Given the description of an element on the screen output the (x, y) to click on. 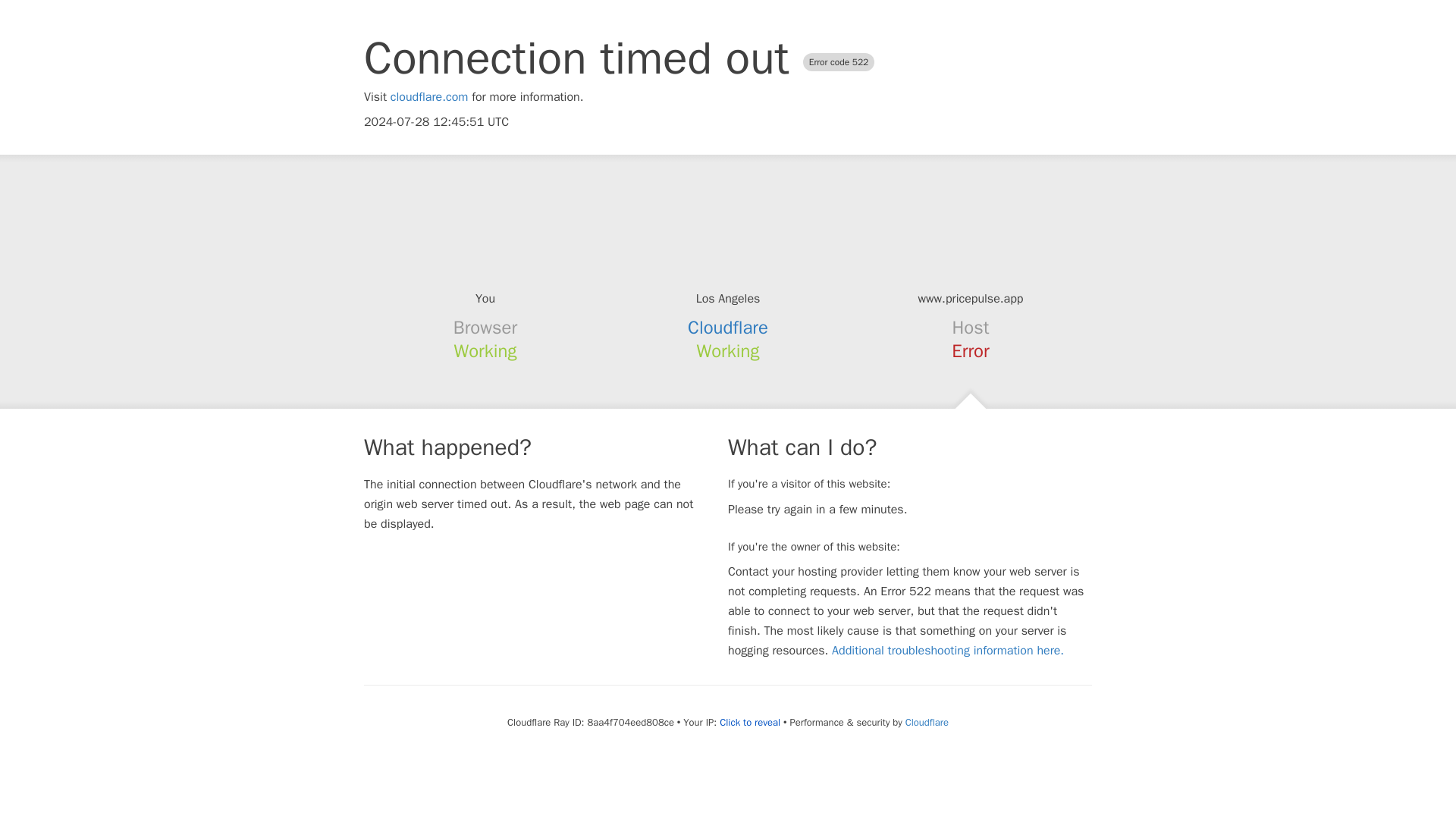
Additional troubleshooting information here. (947, 650)
Cloudflare (927, 721)
Click to reveal (749, 722)
Cloudflare (727, 327)
cloudflare.com (429, 96)
